Given the description of an element on the screen output the (x, y) to click on. 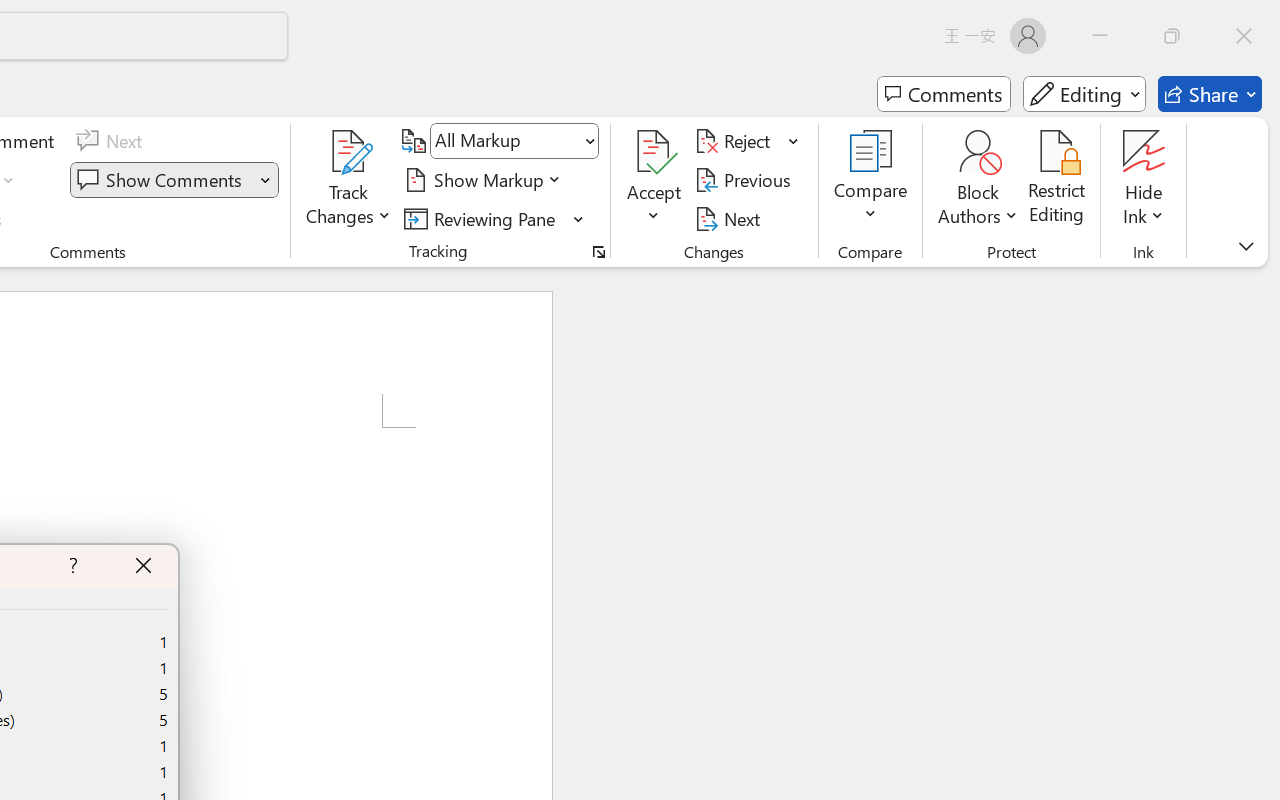
Show Markup (485, 179)
Show Comments (162, 179)
Compare (870, 179)
Block Authors (977, 179)
Hide Ink (1144, 151)
Restrict Editing (1057, 179)
Accept and Move to Next (653, 151)
Hide Ink (1144, 179)
Accept (653, 179)
Show Comments (174, 179)
